Given the description of an element on the screen output the (x, y) to click on. 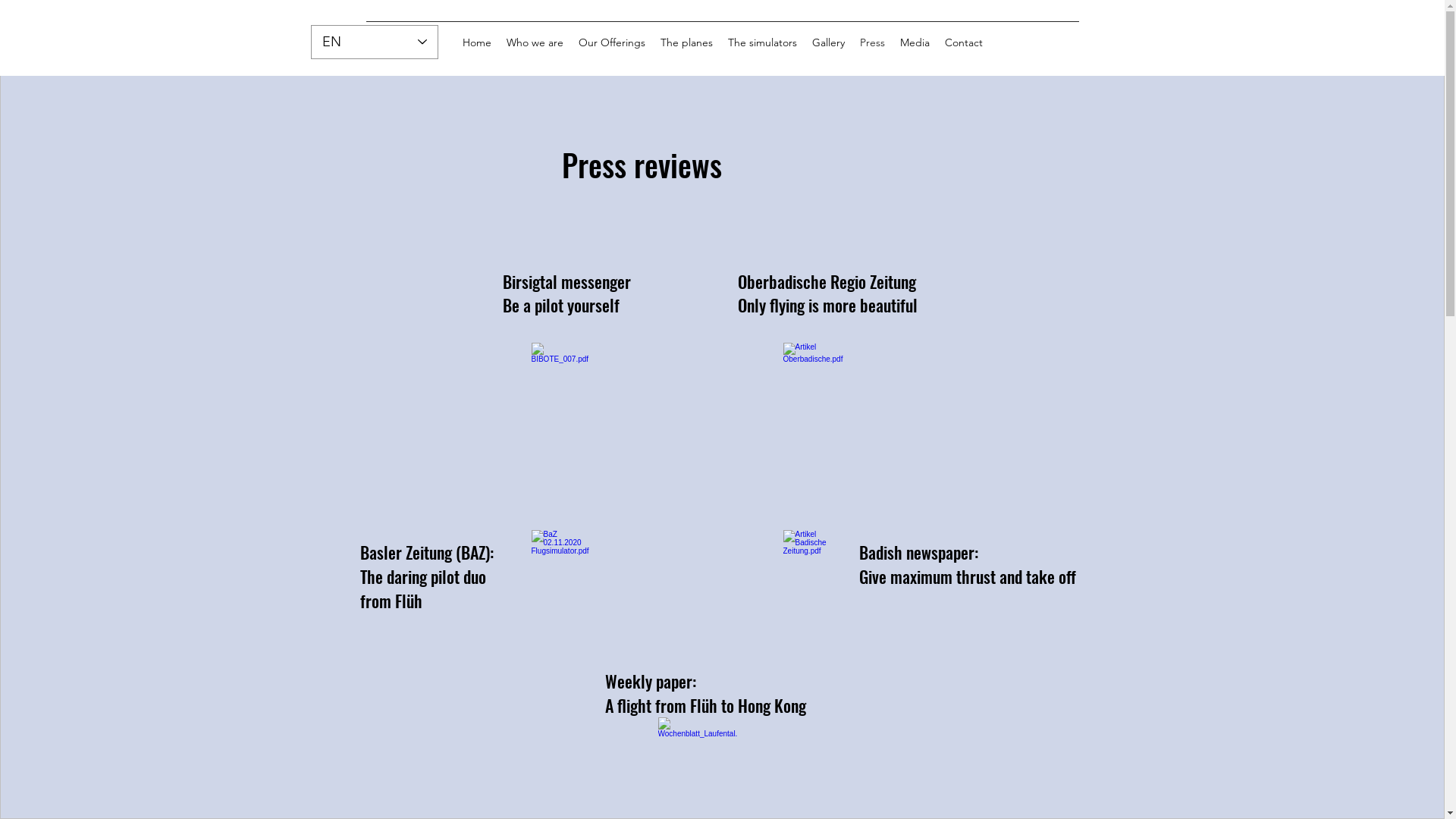
Gallery Element type: text (827, 42)
Contact Element type: text (963, 42)
Who we are Element type: text (534, 42)
Artikel Oberbadische.pdf Element type: hover (813, 395)
Home Element type: text (476, 42)
The planes Element type: text (685, 42)
Press Element type: text (872, 42)
The simulators Element type: text (762, 42)
Our Offerings Element type: text (611, 42)
Media Element type: text (913, 42)
BIBOTE_007.pdf Element type: hover (561, 395)
BaZ 02.11.2020 Flugsimulator.pdf Element type: hover (561, 583)
Artikel Badische Zeitung.pdf Element type: hover (813, 583)
